Given the description of an element on the screen output the (x, y) to click on. 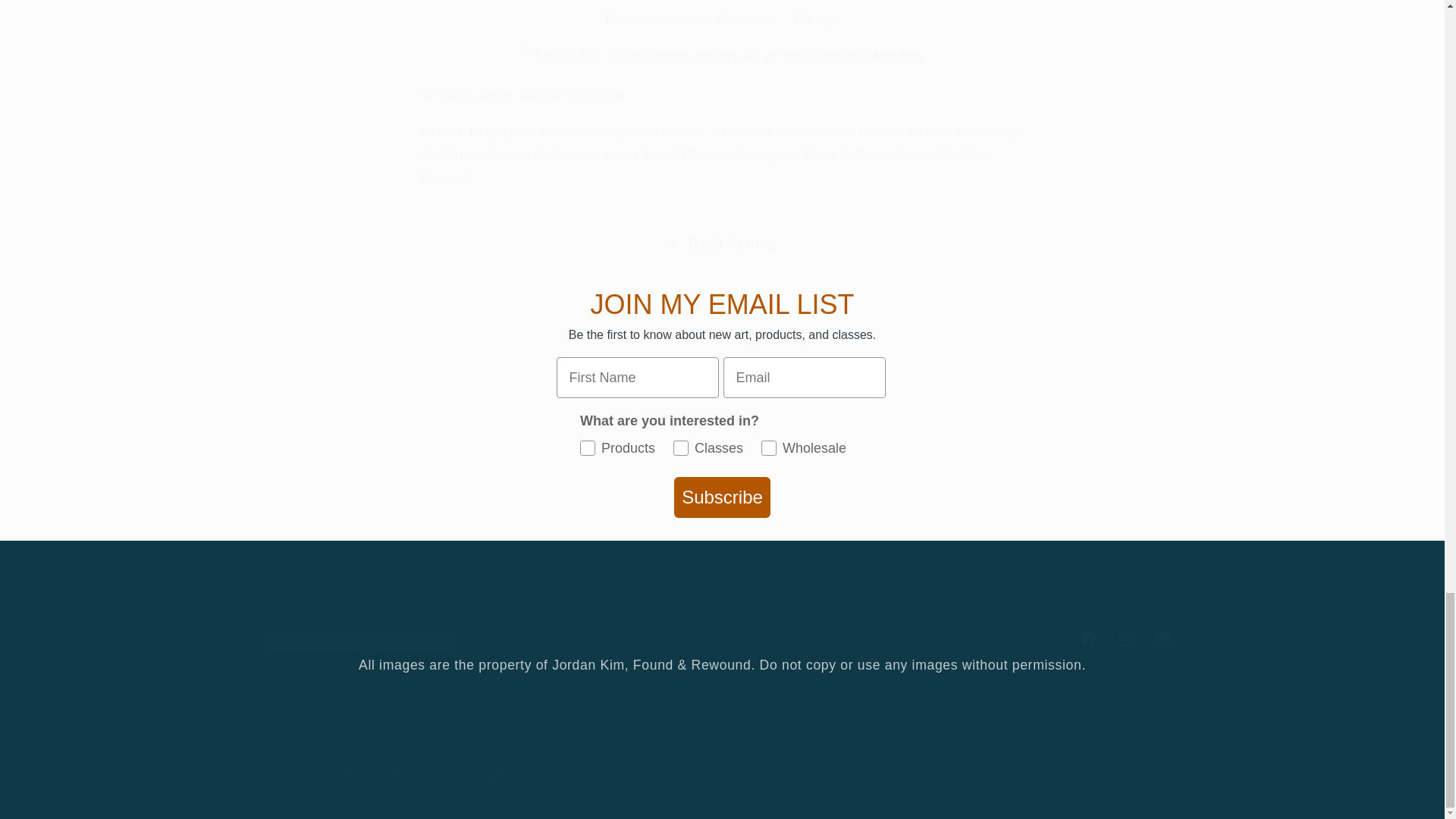
on (721, 637)
on (721, 597)
